Given the description of an element on the screen output the (x, y) to click on. 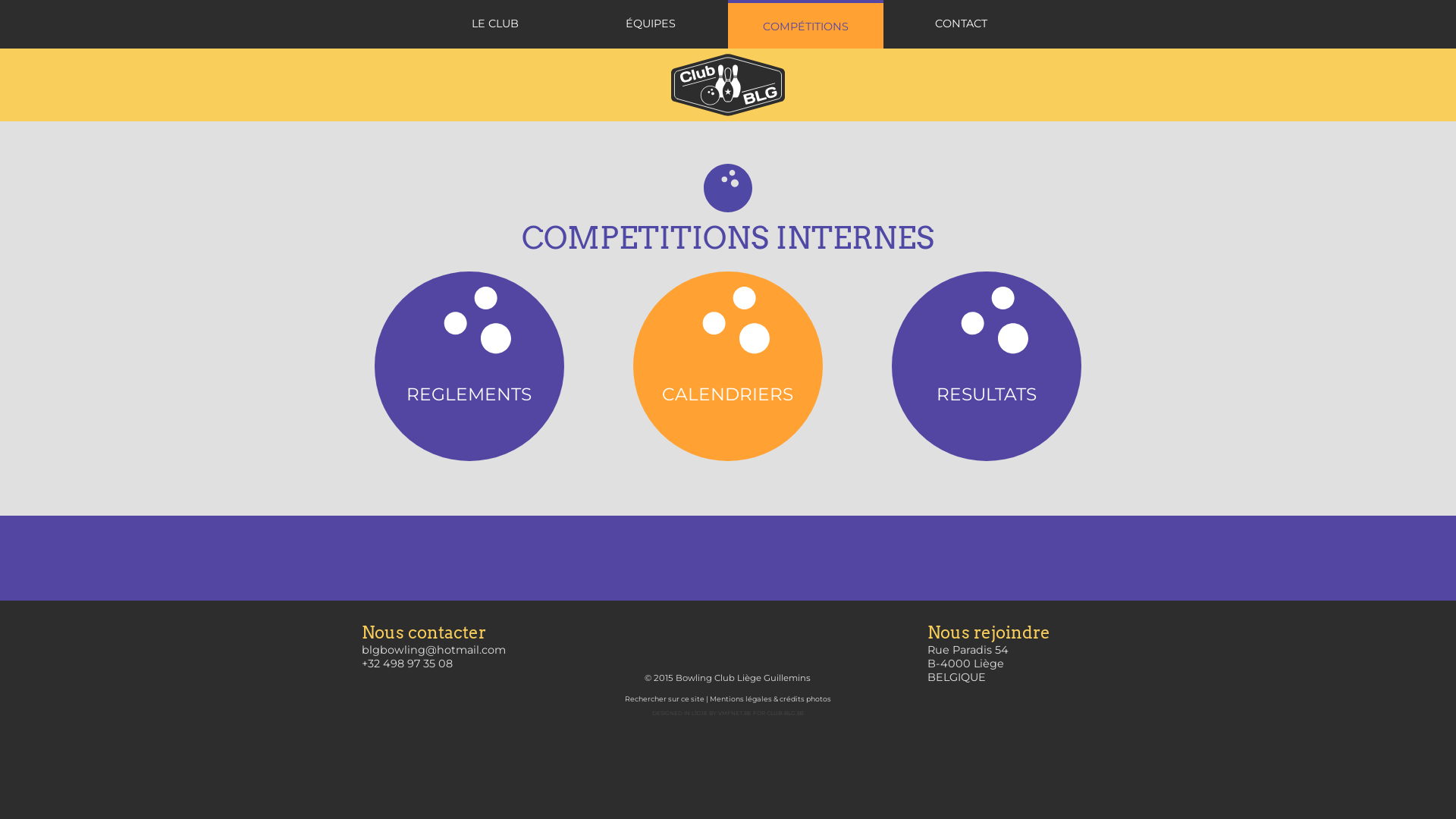
CLUB-BLG.BE Element type: text (784, 712)
+32 498 97 35 08 Element type: text (406, 663)
LE CLUB Element type: text (494, 24)
Rechercher sur ce site Element type: text (664, 698)
blgbowling@hotmail.com Element type: text (433, 649)
CONTACT Element type: text (960, 24)
VMFNET.BE Element type: text (733, 712)
